Given the description of an element on the screen output the (x, y) to click on. 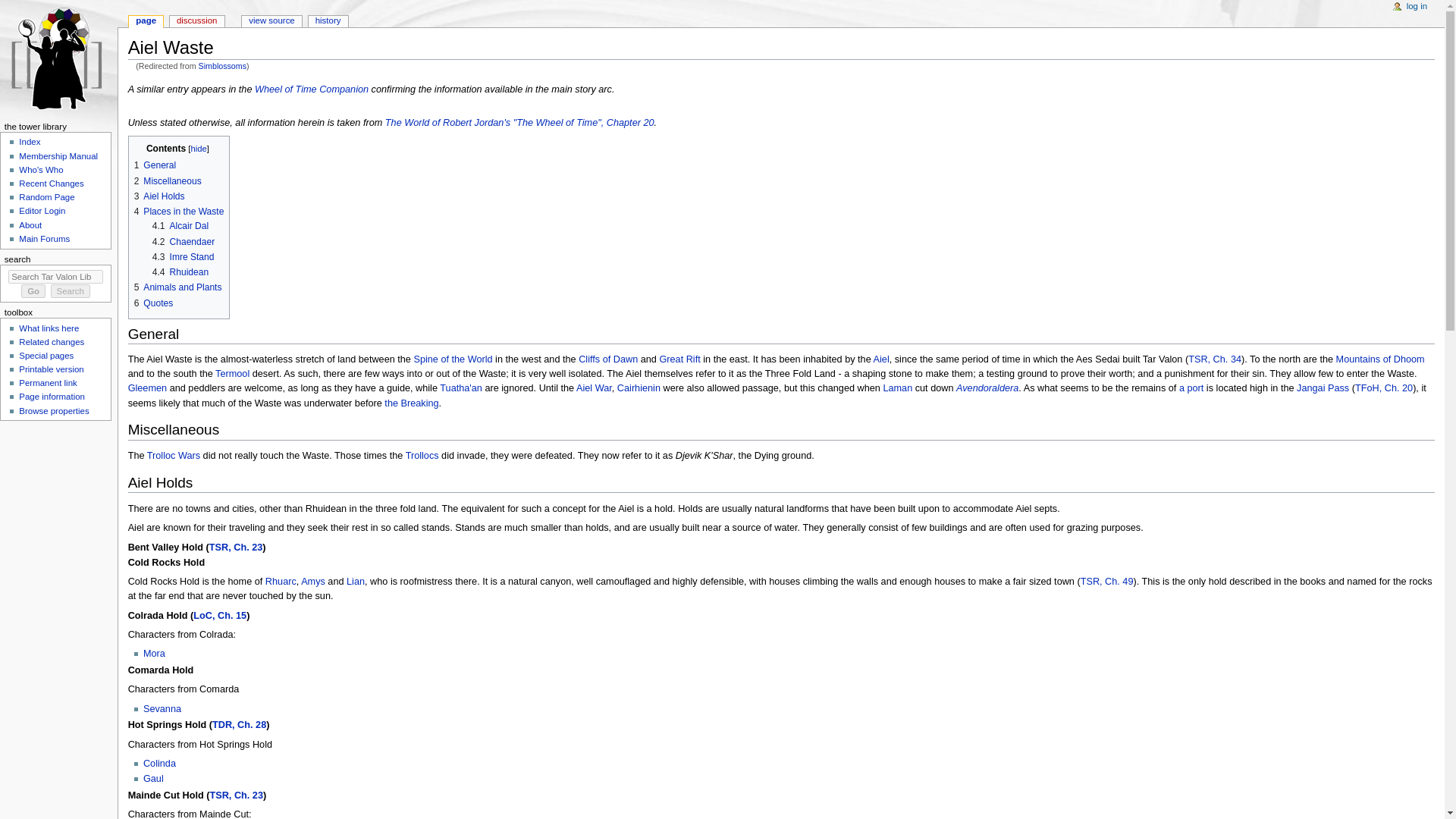
Gleemen (147, 388)
Amys (312, 581)
2 Miscellaneous (167, 181)
Lian (355, 581)
Jangai Pass (1323, 388)
Go (33, 291)
Avendoraldera (986, 388)
Go (33, 291)
TSR, Ch. 34 (1214, 358)
Rhuarc (280, 581)
Avendoraldera (986, 388)
Wheel of Time Companion (311, 89)
Shorelle (1191, 388)
Search (70, 291)
Great Rift (679, 358)
